Given the description of an element on the screen output the (x, y) to click on. 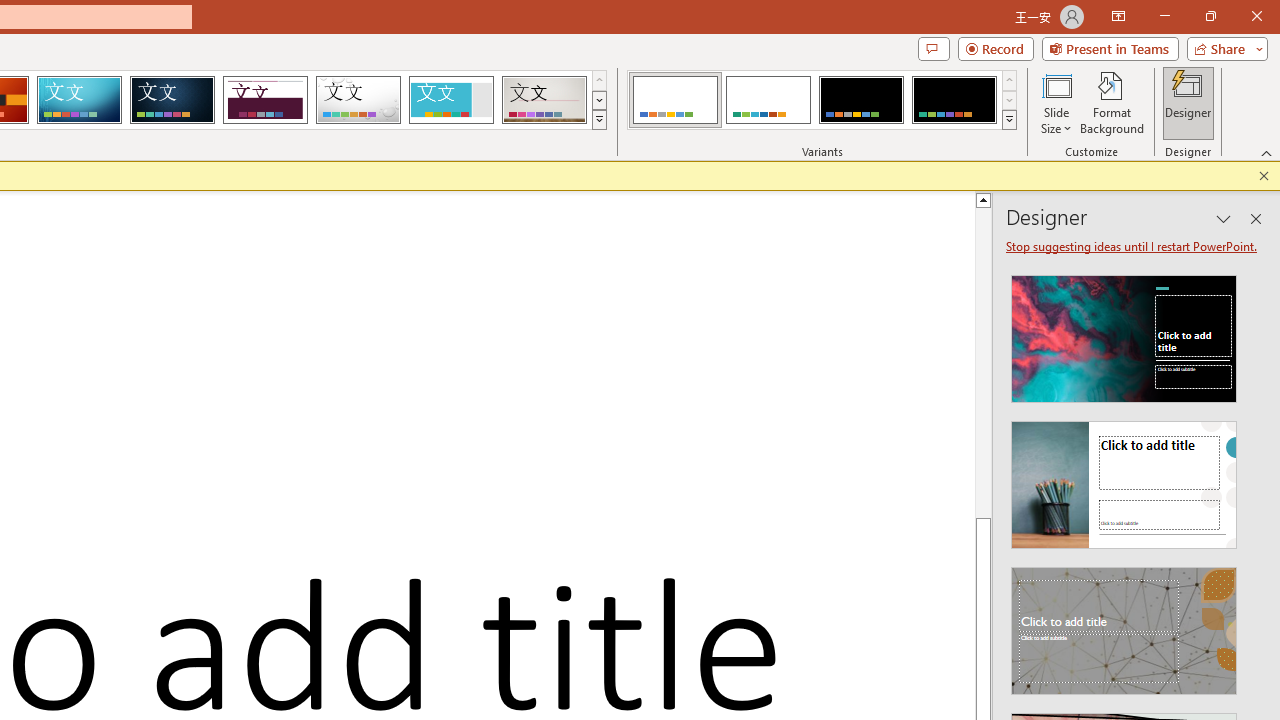
Damask (171, 100)
Office Theme Variant 3 (861, 100)
Circuit (79, 100)
Office Theme Variant 4 (953, 100)
Close this message (1263, 176)
Gallery (544, 100)
